Given the description of an element on the screen output the (x, y) to click on. 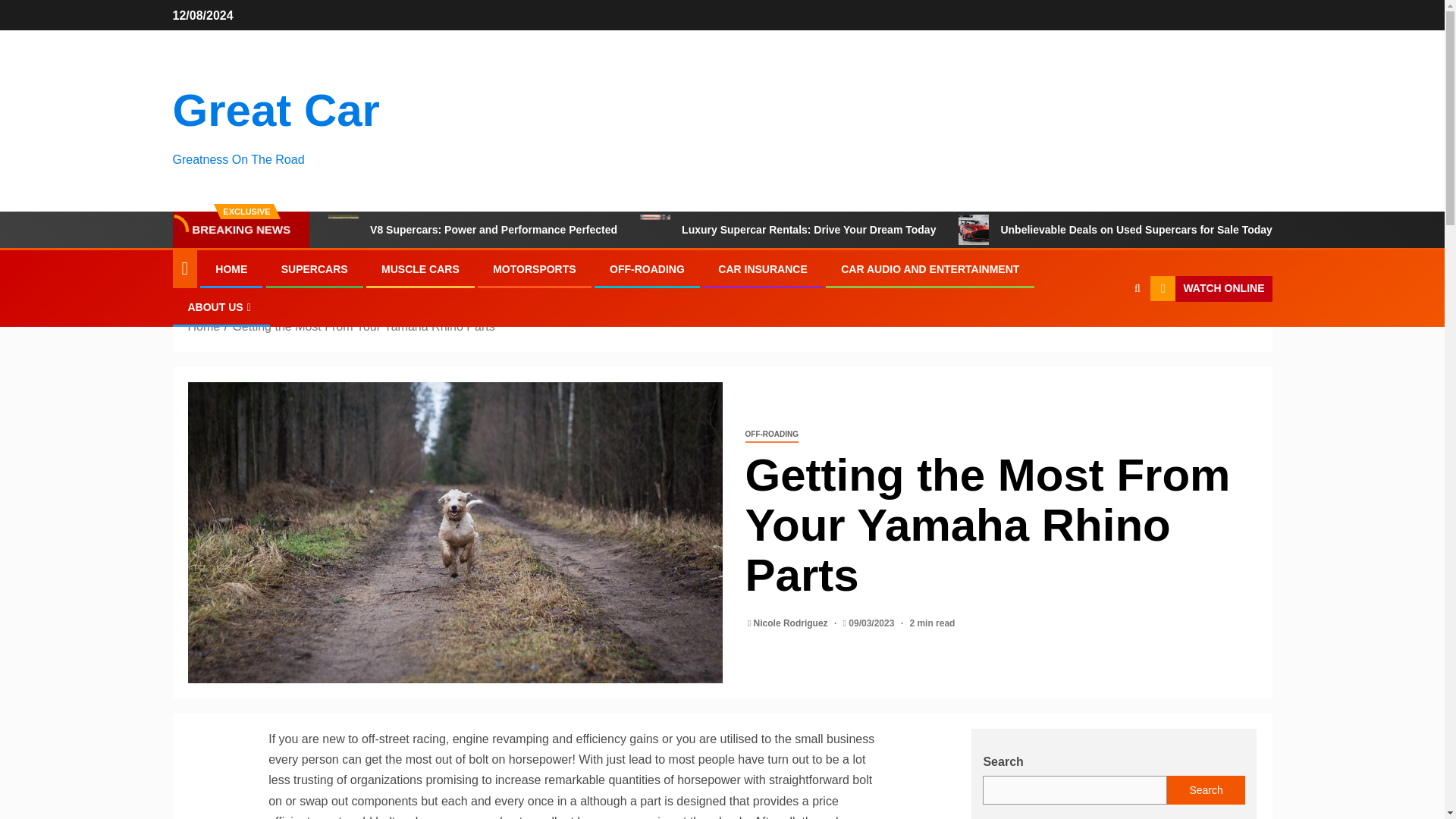
ABOUT US (220, 306)
MOTORSPORTS (534, 268)
HOME (231, 268)
V8 Supercars: Power and Performance Perfected (472, 229)
V8 Supercars: Power and Performance Perfected (343, 229)
CAR AUDIO AND ENTERTAINMENT (930, 268)
Home (204, 326)
OFF-ROADING (647, 268)
SUPERCARS (314, 268)
